Given the description of an element on the screen output the (x, y) to click on. 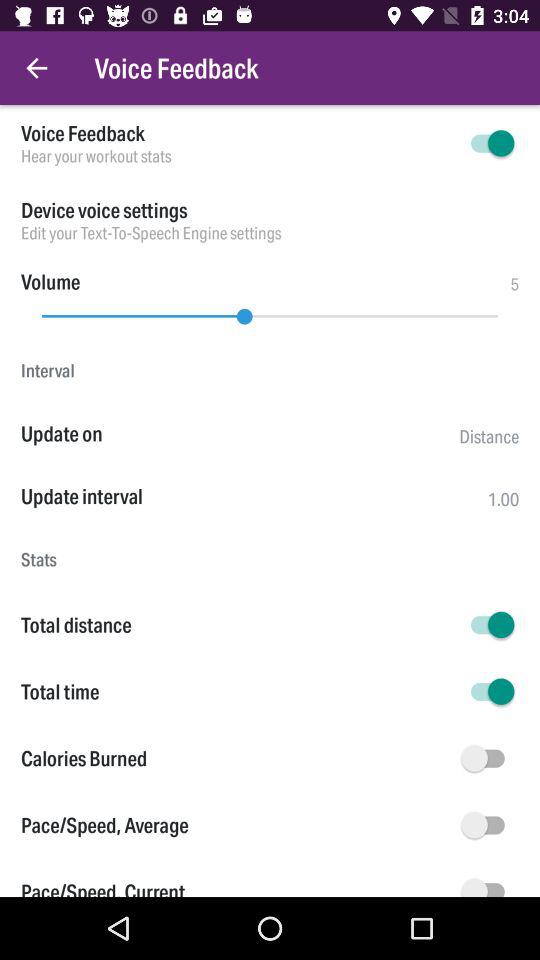
launch the icon to the left of distance item (240, 433)
